Given the description of an element on the screen output the (x, y) to click on. 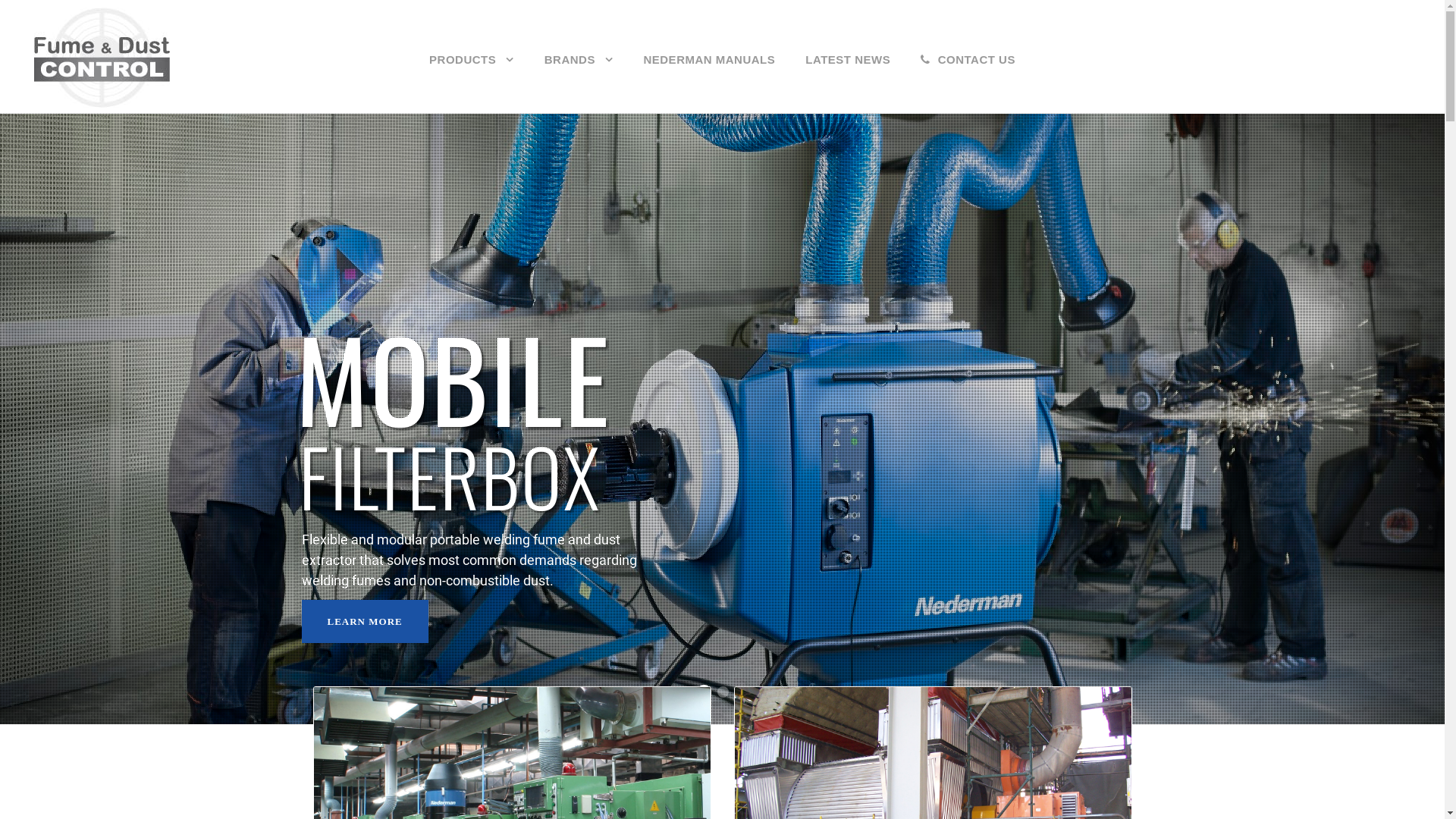
BRANDS Element type: text (578, 81)
LATEST NEWS Element type: text (847, 81)
PRODUCTS Element type: text (471, 81)
NEDERMAN MANUALS Element type: text (709, 81)
Fume and Dust Element type: hover (101, 57)
CONTACT US Element type: text (967, 81)
